Given the description of an element on the screen output the (x, y) to click on. 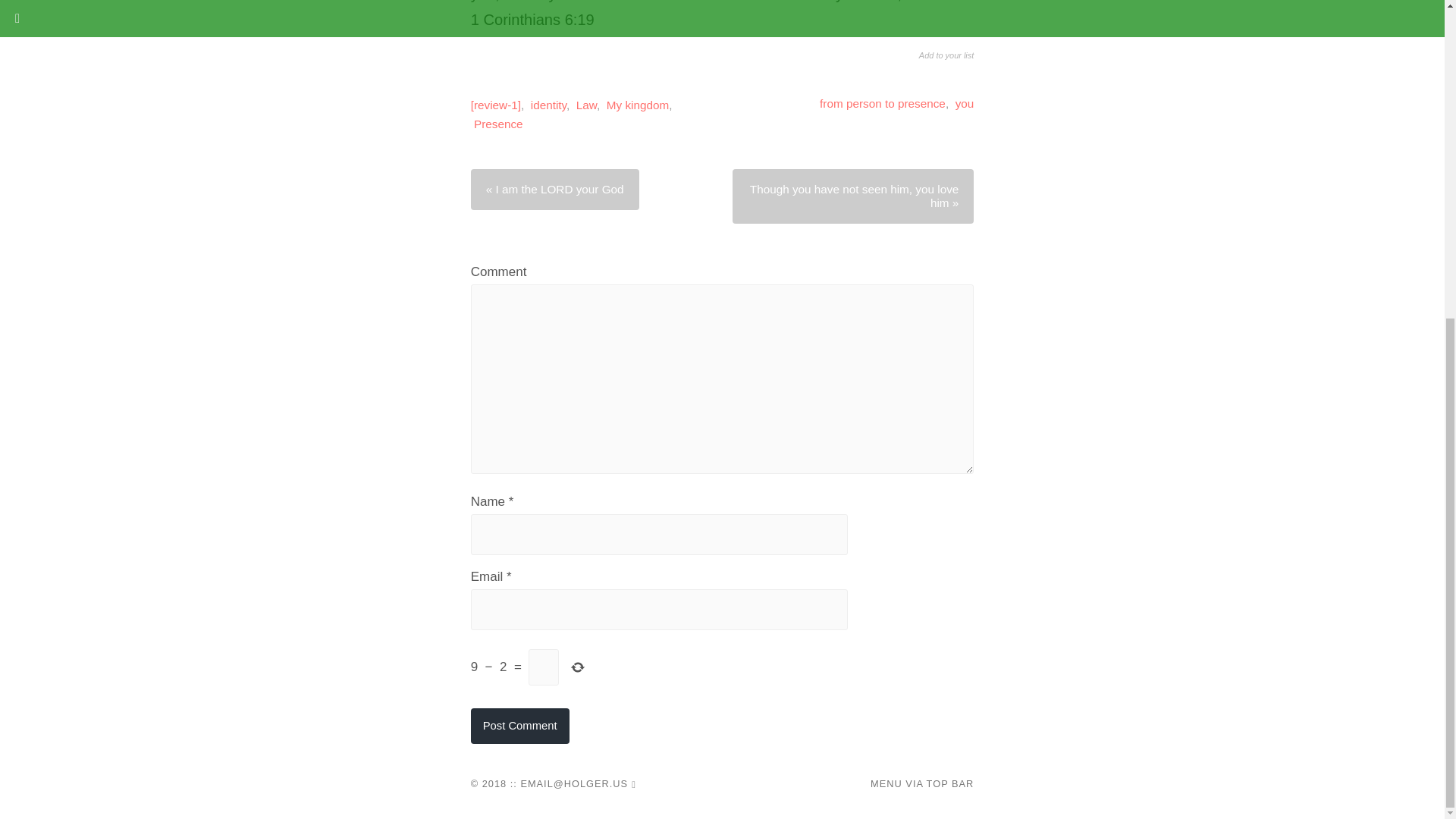
from person to presence (881, 103)
you (964, 103)
Previous post: I am the LORD your God (554, 188)
Next post: Though you have not seen him, you love him (853, 195)
Presence (498, 123)
Add to your list (946, 74)
identity (548, 104)
MENU VIA TOP BAR (922, 782)
Post Comment (519, 725)
My kingdom (637, 104)
Post Comment (519, 725)
Law (586, 104)
